Given the description of an element on the screen output the (x, y) to click on. 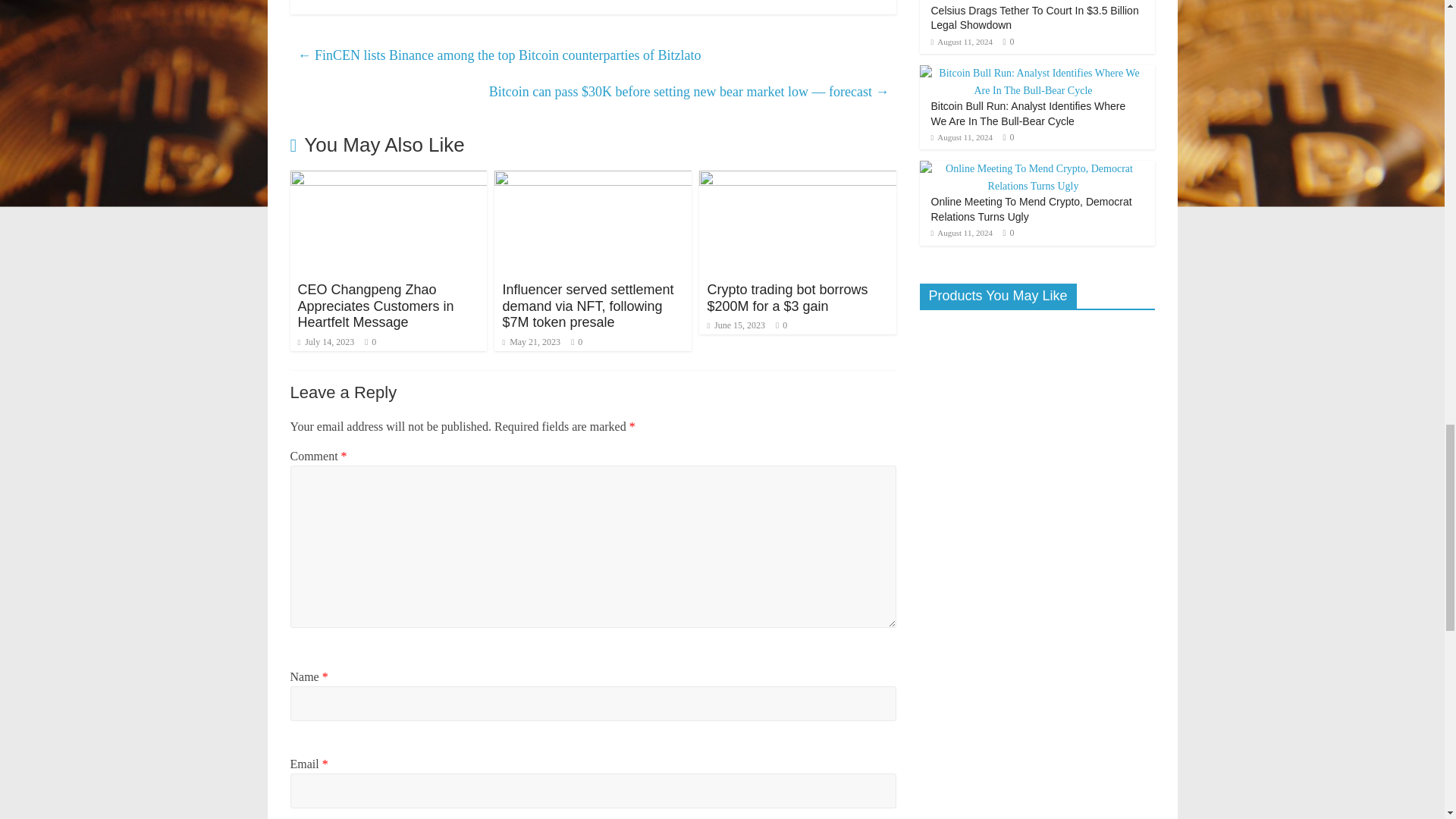
6:56 am (531, 341)
2:00 pm (325, 341)
